Given the description of an element on the screen output the (x, y) to click on. 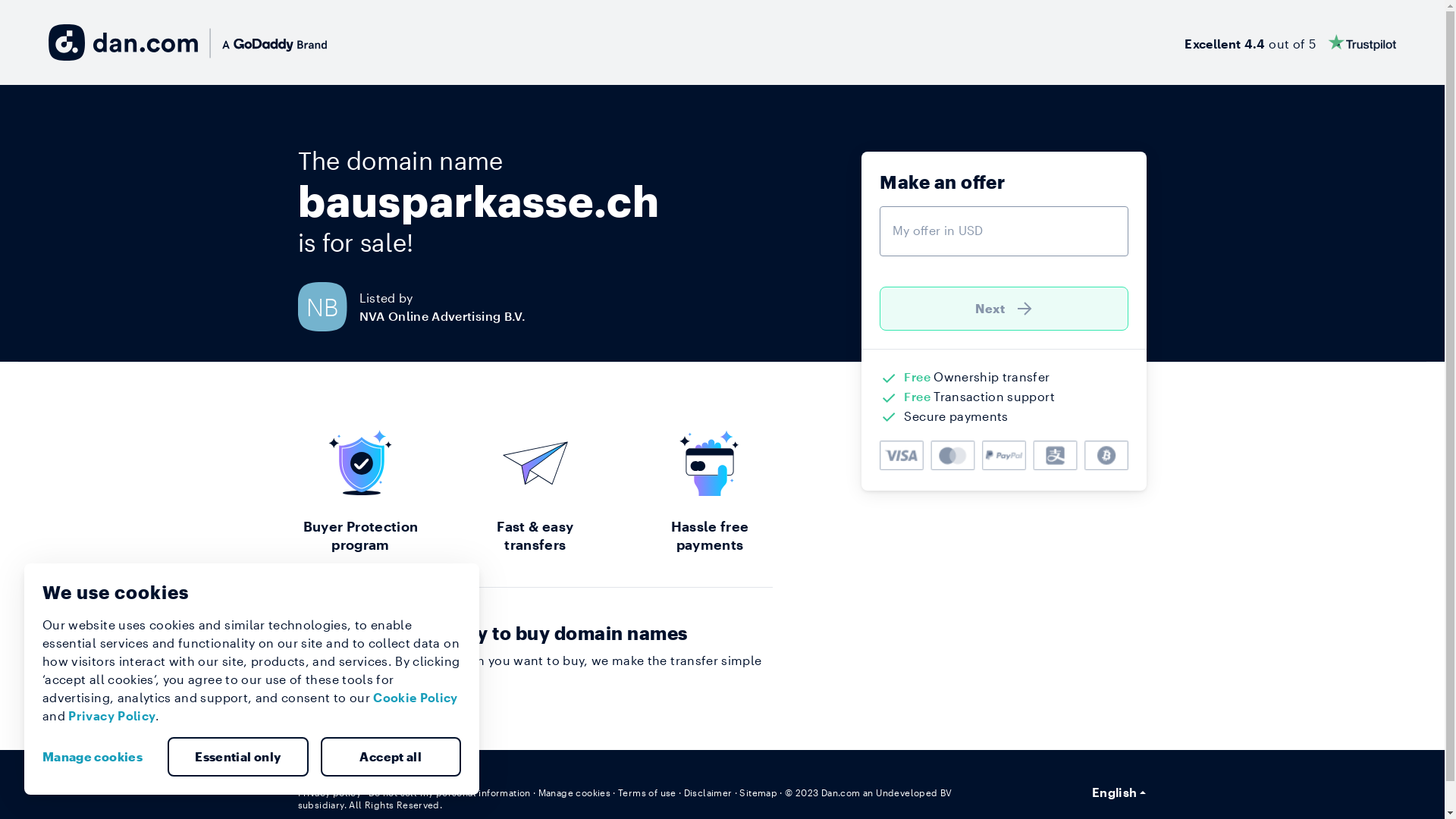
Essential only Element type: text (237, 756)
English Element type: text (1119, 792)
Sitemap Element type: text (758, 792)
Privacy policy Element type: text (328, 792)
Next
) Element type: text (1003, 308)
Terms of use Element type: text (647, 792)
Cookie Policy Element type: text (415, 697)
Disclaimer Element type: text (708, 792)
Privacy Policy Element type: text (111, 715)
Manage cookies Element type: text (574, 792)
Accept all Element type: text (390, 756)
Excellent 4.4 out of 5 Element type: text (1290, 42)
Manage cookies Element type: text (98, 756)
Do not sell my personal information Element type: text (449, 792)
